Given the description of an element on the screen output the (x, y) to click on. 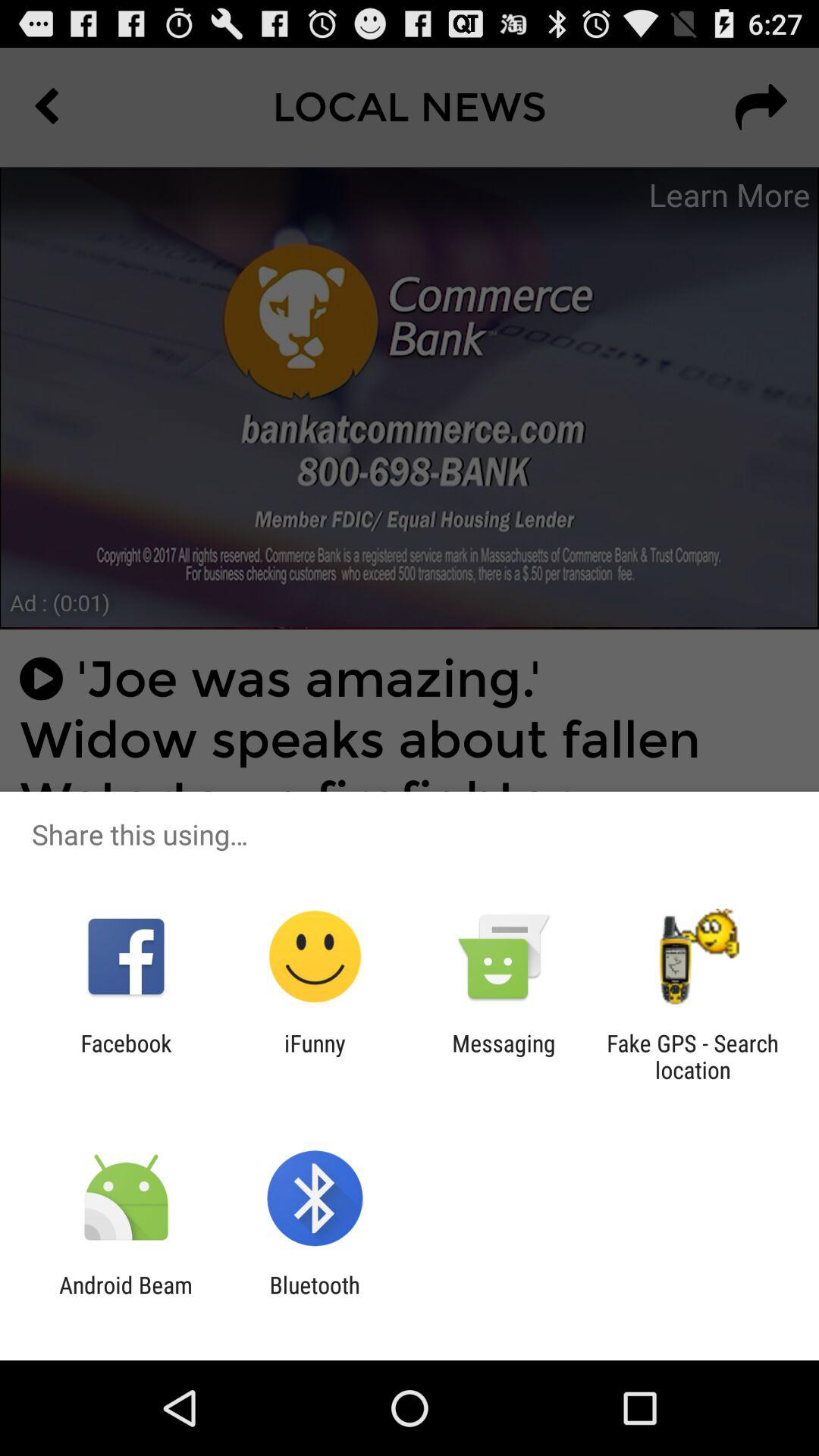
swipe until android beam item (125, 1298)
